Given the description of an element on the screen output the (x, y) to click on. 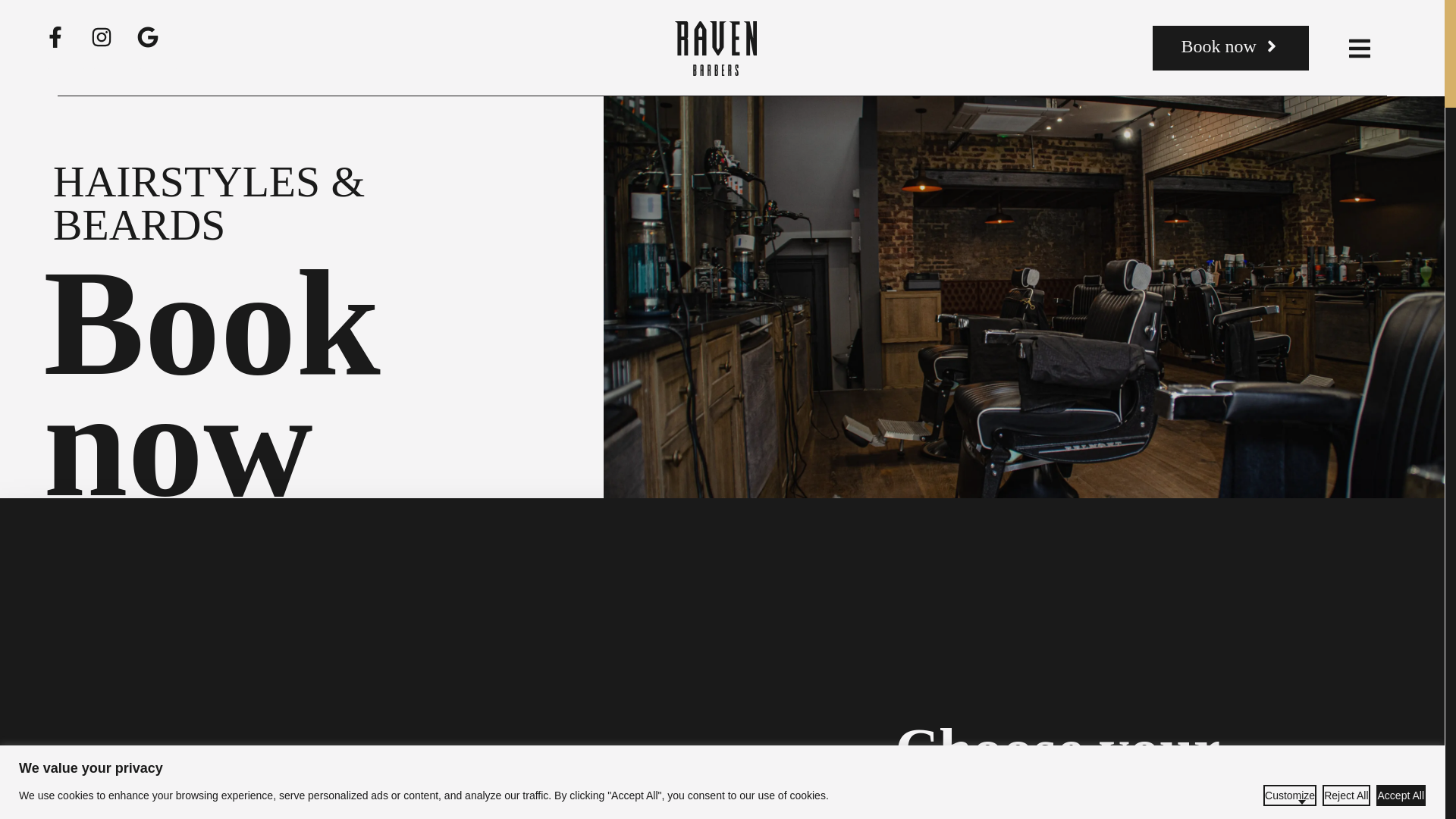
Book now (1230, 47)
Accept All (1400, 794)
Reject All (1346, 794)
Customize (1289, 794)
